Given the description of an element on the screen output the (x, y) to click on. 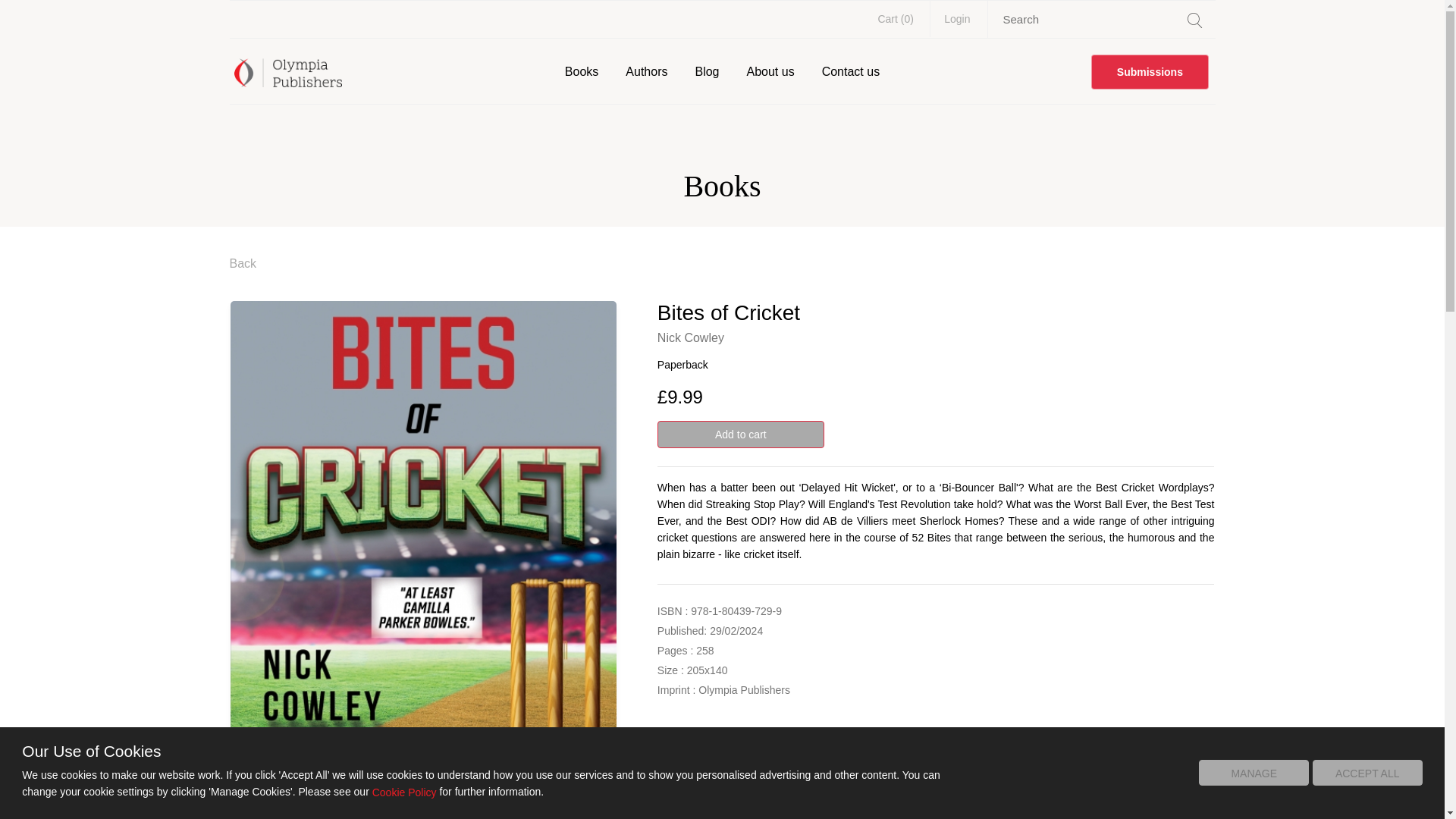
Submissions (1149, 71)
Authors (646, 71)
Books (581, 71)
Login (957, 18)
Blog (706, 71)
About us (769, 71)
Contact us (849, 71)
